Given the description of an element on the screen output the (x, y) to click on. 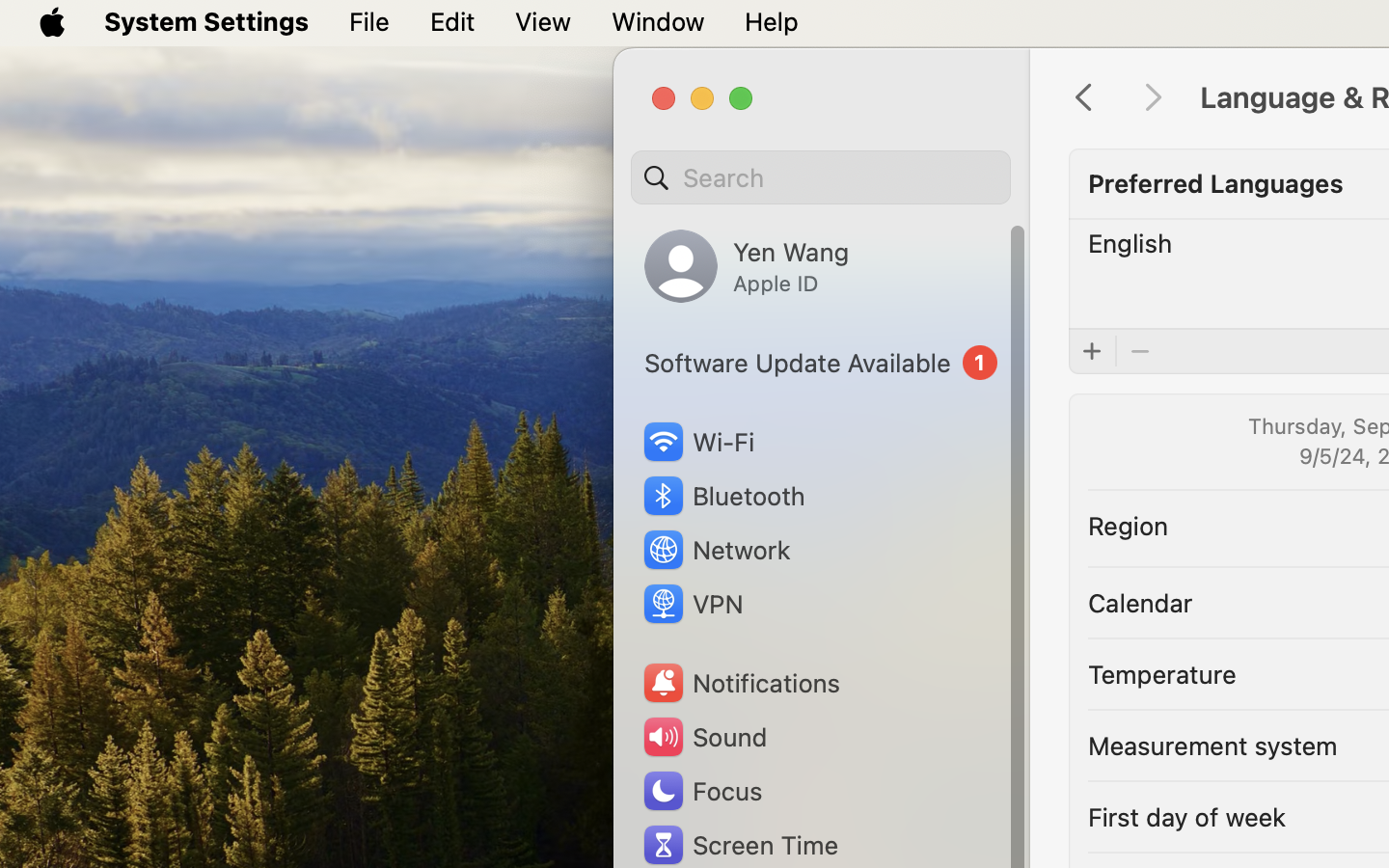
Yen Wang, Apple ID Element type: AXStaticText (746, 265)
